Given the description of an element on the screen output the (x, y) to click on. 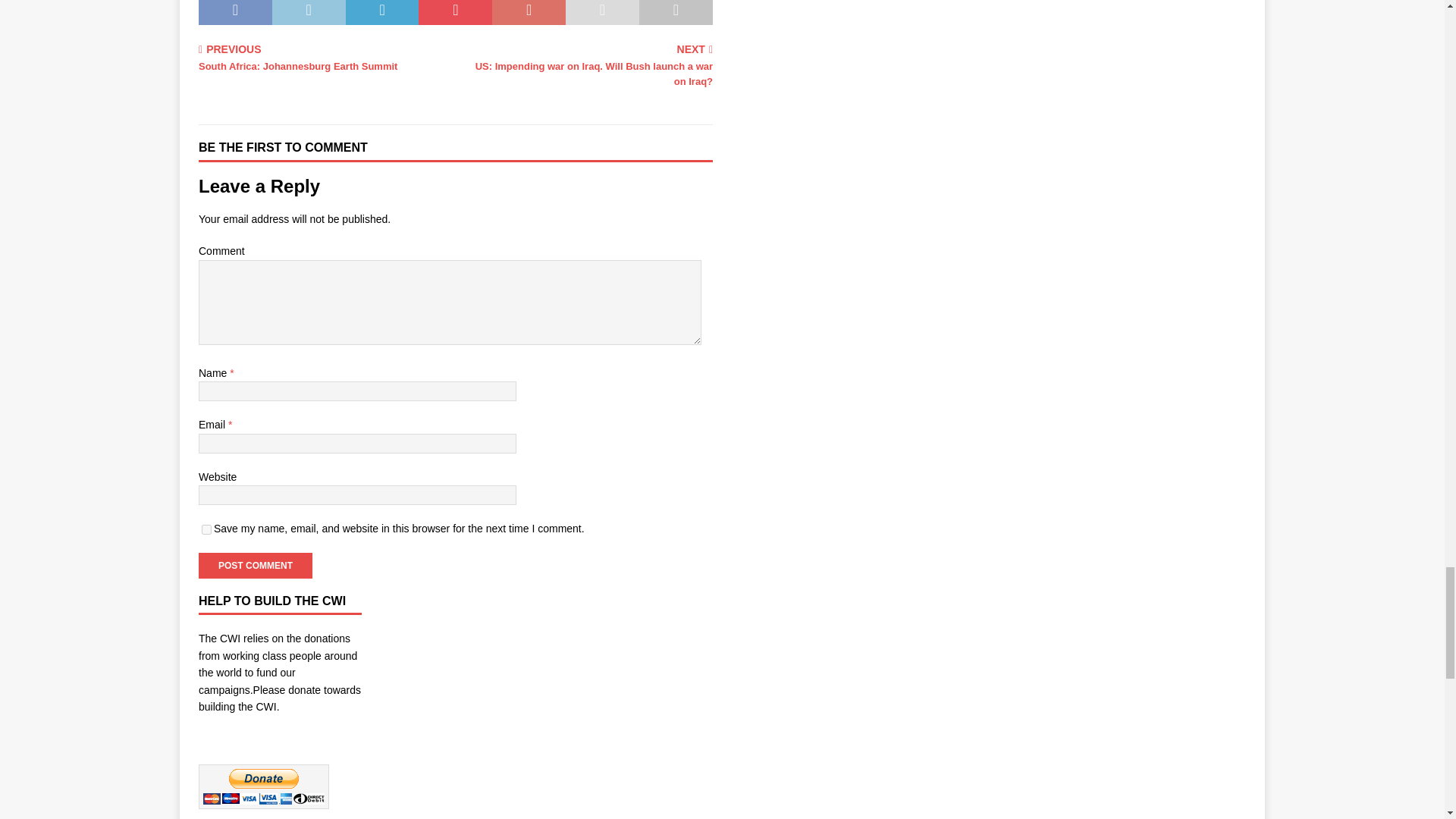
Post Comment (255, 565)
yes (206, 529)
